Given the description of an element on the screen output the (x, y) to click on. 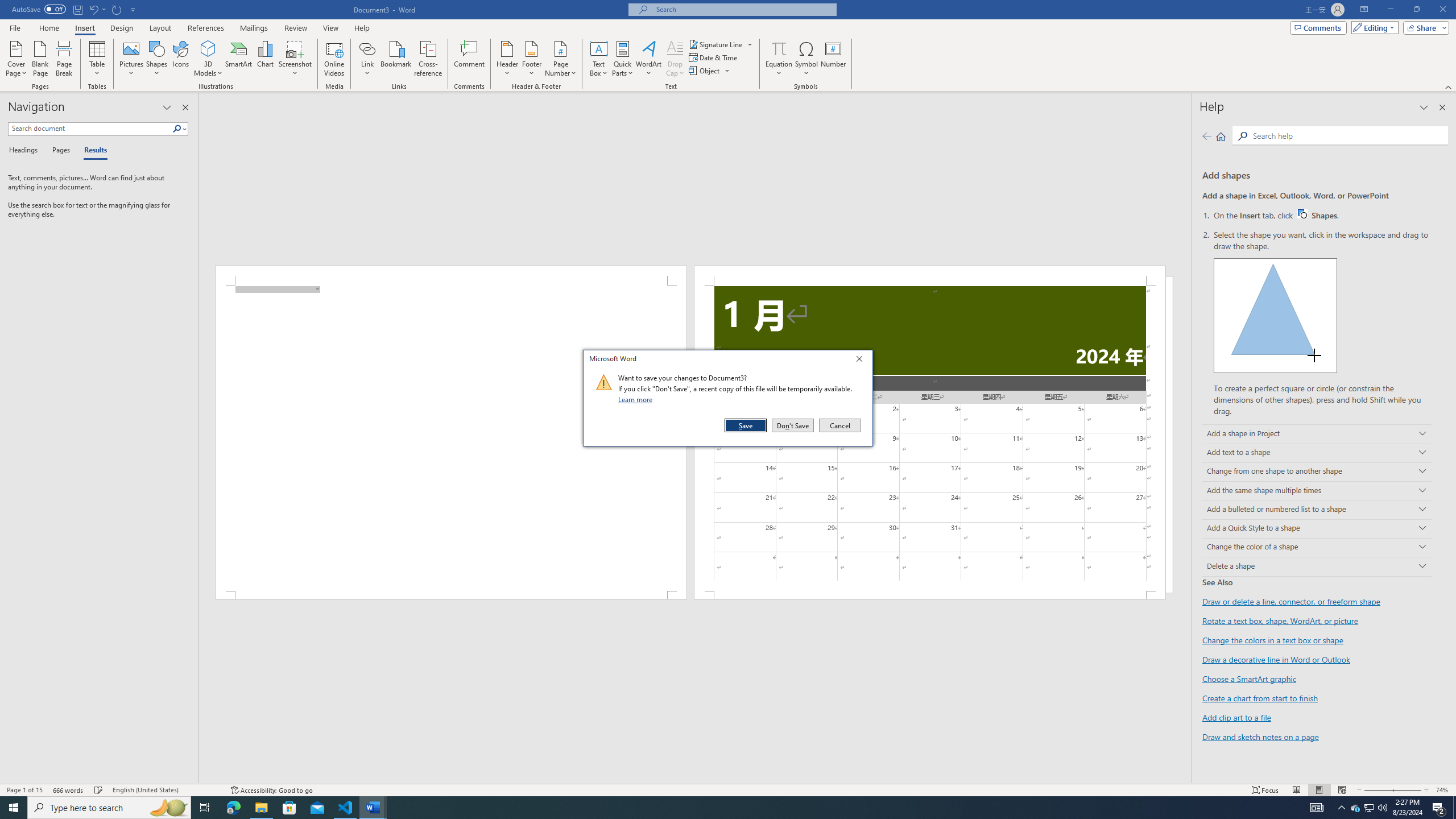
Home (48, 28)
Blank Page (40, 58)
Change from one shape to another shape (1316, 471)
Add a bulleted or numbered list to a shape (1316, 510)
